Given the description of an element on the screen output the (x, y) to click on. 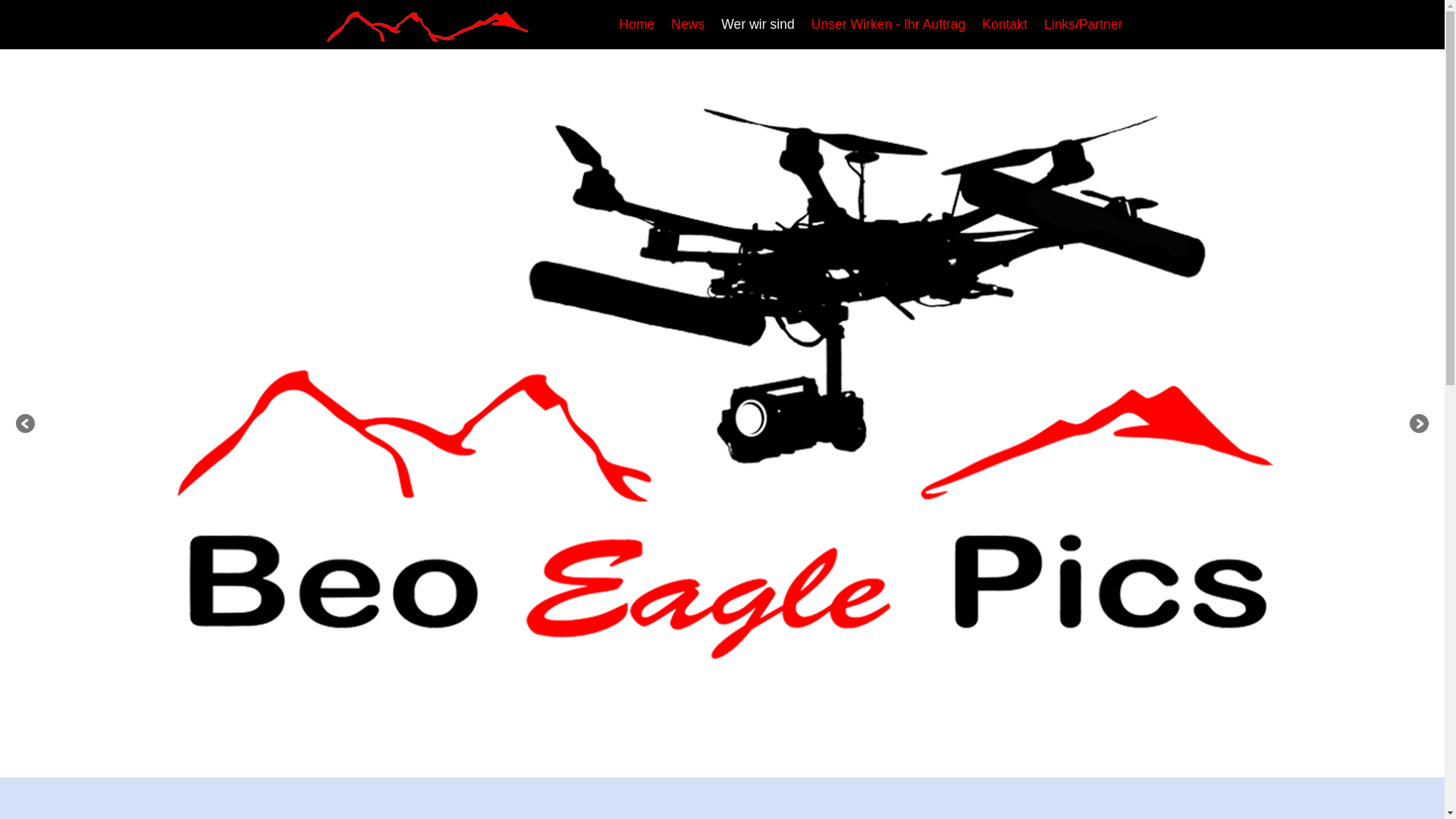
1 Element type: text (715, 760)
Home Element type: text (636, 23)
Links/Partner Element type: text (1083, 23)
www.beoeaglepics.ch  Element type: hover (425, 24)
Wer wir sind Element type: text (757, 23)
Kontakt Element type: text (1004, 23)
News Element type: text (687, 23)
Previous Element type: text (26, 424)
Unser Wirken - Ihr Auftrag Element type: text (887, 23)
2 Element type: text (728, 760)
Next Element type: text (1417, 424)
